Given the description of an element on the screen output the (x, y) to click on. 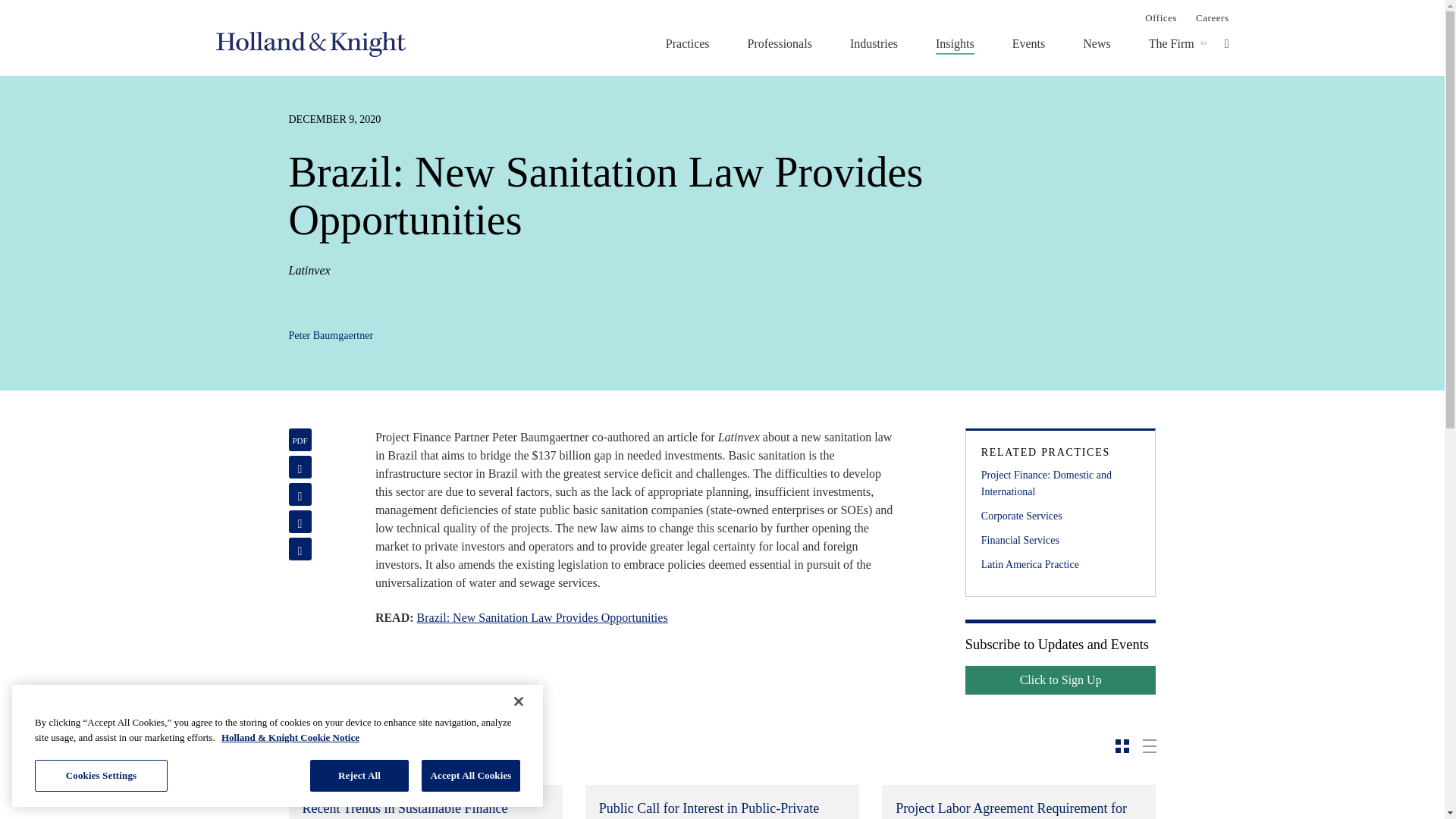
Events (1028, 42)
Offices (1160, 16)
Practices (687, 42)
News (1096, 42)
Brazil: New Sanitation Law Provides Opportunities (542, 617)
Peter Baumgaertner (330, 335)
The Firm (1170, 43)
Corporate Services (1060, 515)
Careers (1211, 16)
Insights (955, 42)
